Given the description of an element on the screen output the (x, y) to click on. 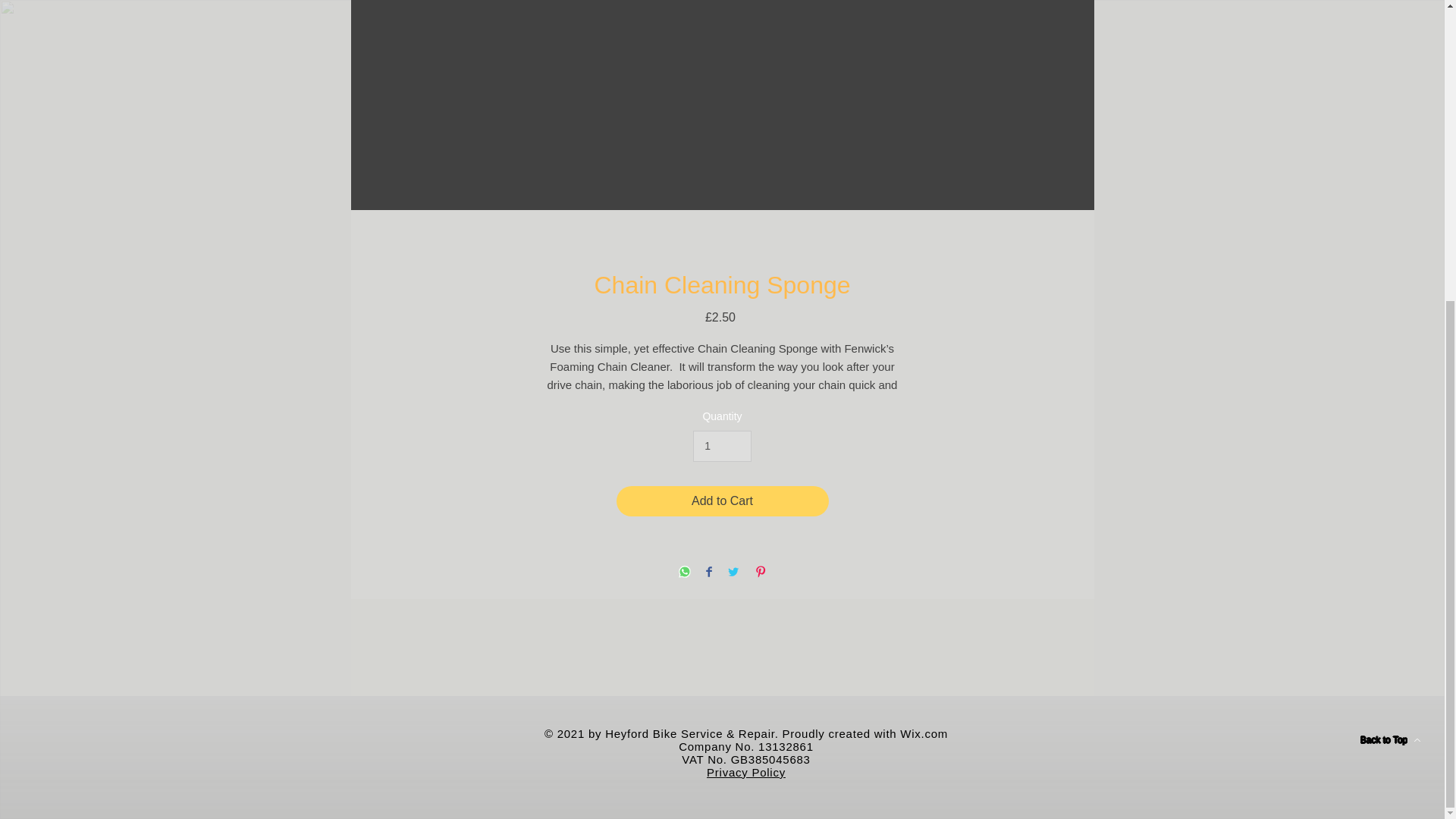
Wix.com (923, 733)
Add to Cart (721, 501)
1 (722, 445)
Privacy Policy (746, 771)
